Given the description of an element on the screen output the (x, y) to click on. 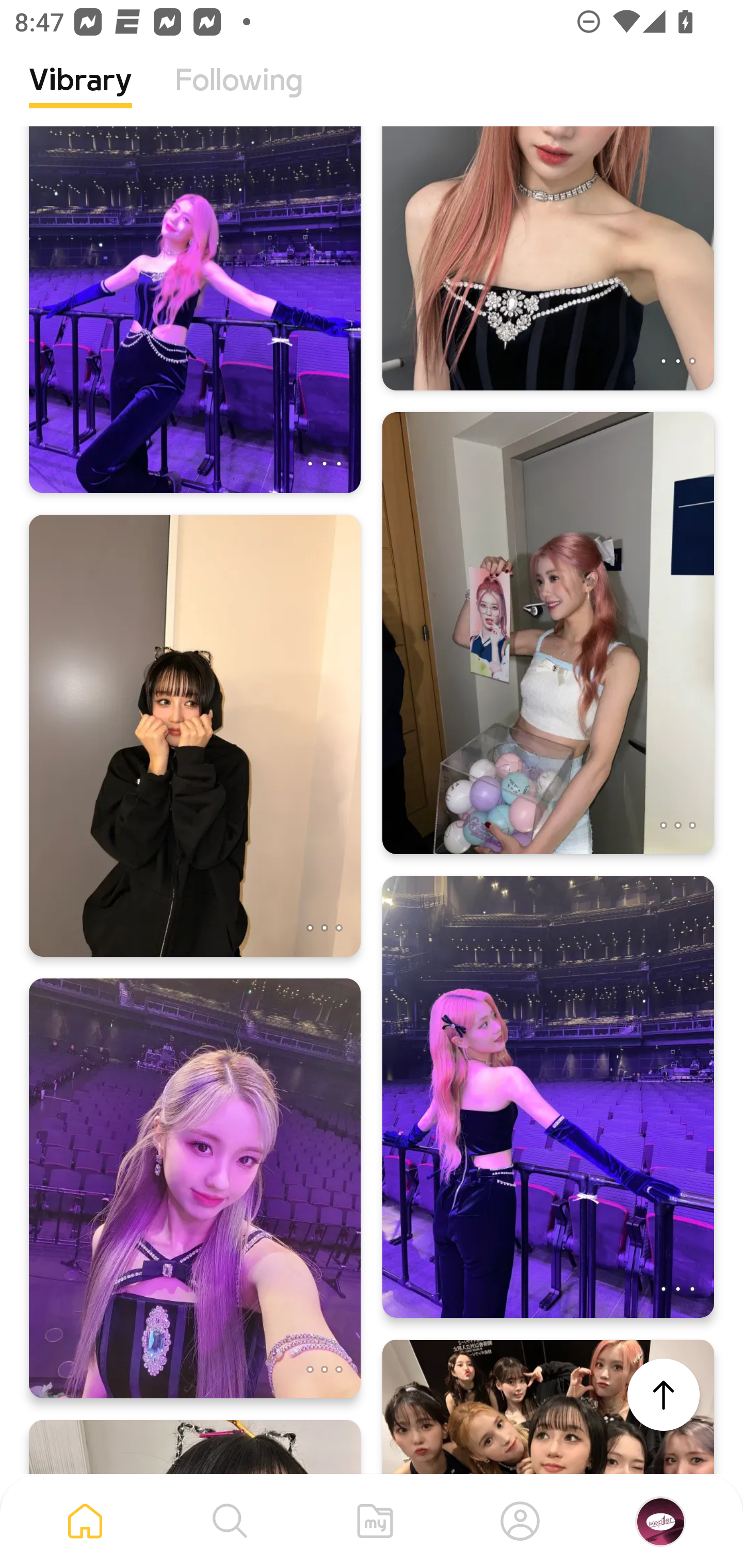
Vibrary (80, 95)
Following (239, 95)
